Given the description of an element on the screen output the (x, y) to click on. 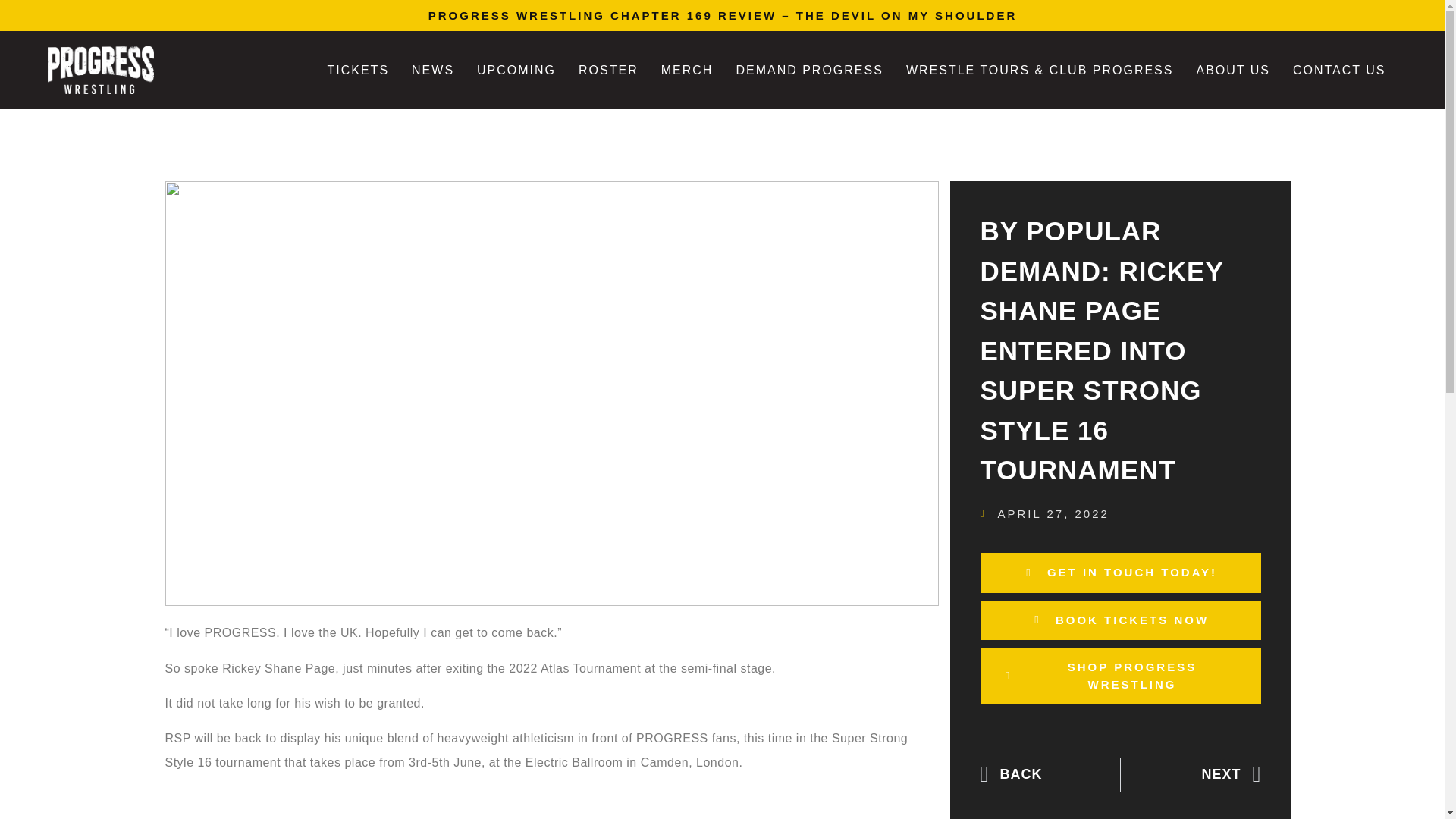
TICKETS (357, 70)
NEWS (432, 70)
UPCOMING (516, 70)
SHOP PROGRESS WRESTLING (1119, 675)
ABOUT US (1233, 70)
CONTACT US (1339, 70)
BACK (1049, 774)
ROSTER (608, 70)
NEXT (1190, 774)
MERCH (687, 70)
BOOK TICKETS NOW (1119, 620)
Rickey Shane Page Wants To Return To PROGRESS Wrestling (552, 802)
APRIL 27, 2022 (1043, 514)
DEMAND PROGRESS (808, 70)
GET IN TOUCH TODAY! (1119, 572)
